Given the description of an element on the screen output the (x, y) to click on. 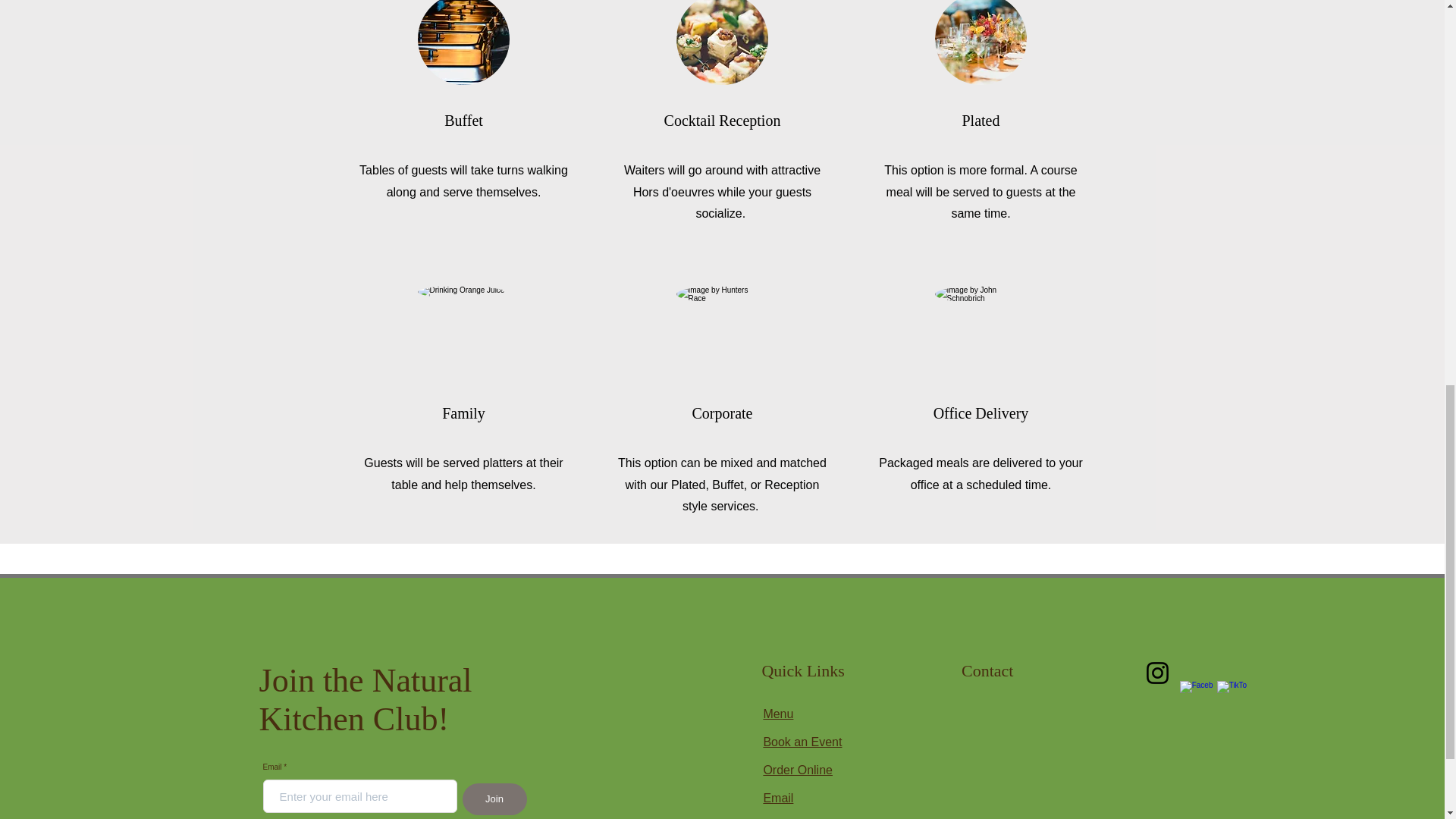
Book an Event (801, 741)
Join (495, 798)
Menu (777, 713)
Email (777, 797)
Order Online (797, 769)
